Given the description of an element on the screen output the (x, y) to click on. 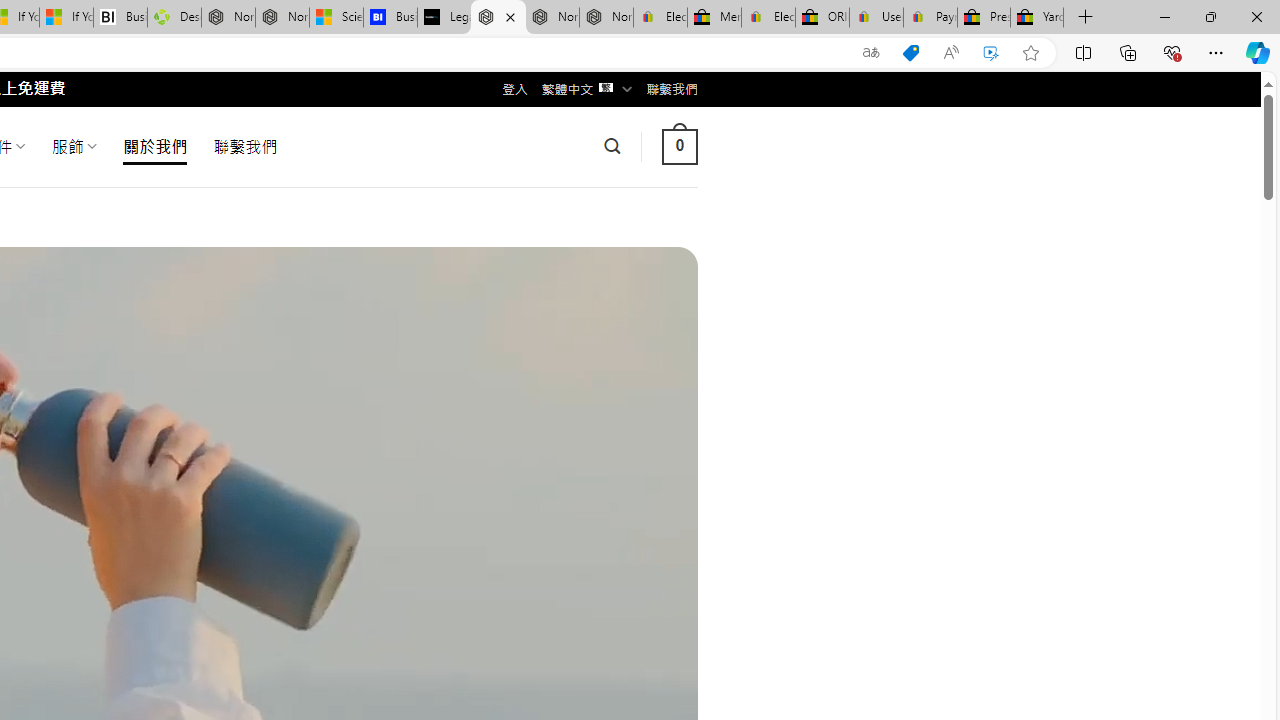
Nordace - Summer Adventures 2024 (228, 17)
Show translate options (870, 53)
 0  (679, 146)
This site has coupons! Shopping in Microsoft Edge (910, 53)
